Given the description of an element on the screen output the (x, y) to click on. 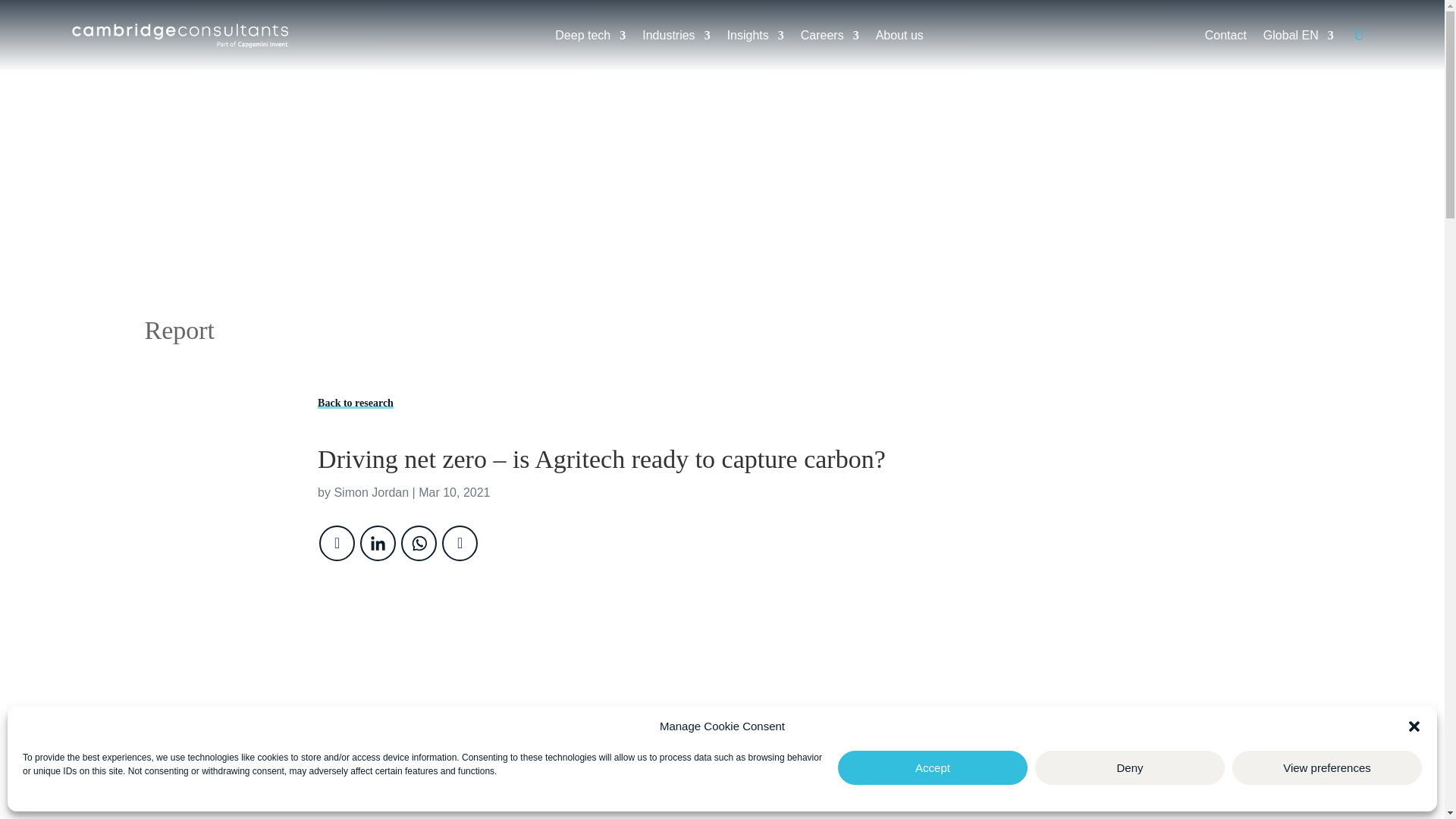
Accept (932, 767)
Deny (1129, 767)
Whatsapp (418, 543)
Linkedin (377, 543)
Email (459, 543)
Facebook (336, 543)
View preferences (1326, 767)
